Given the description of an element on the screen output the (x, y) to click on. 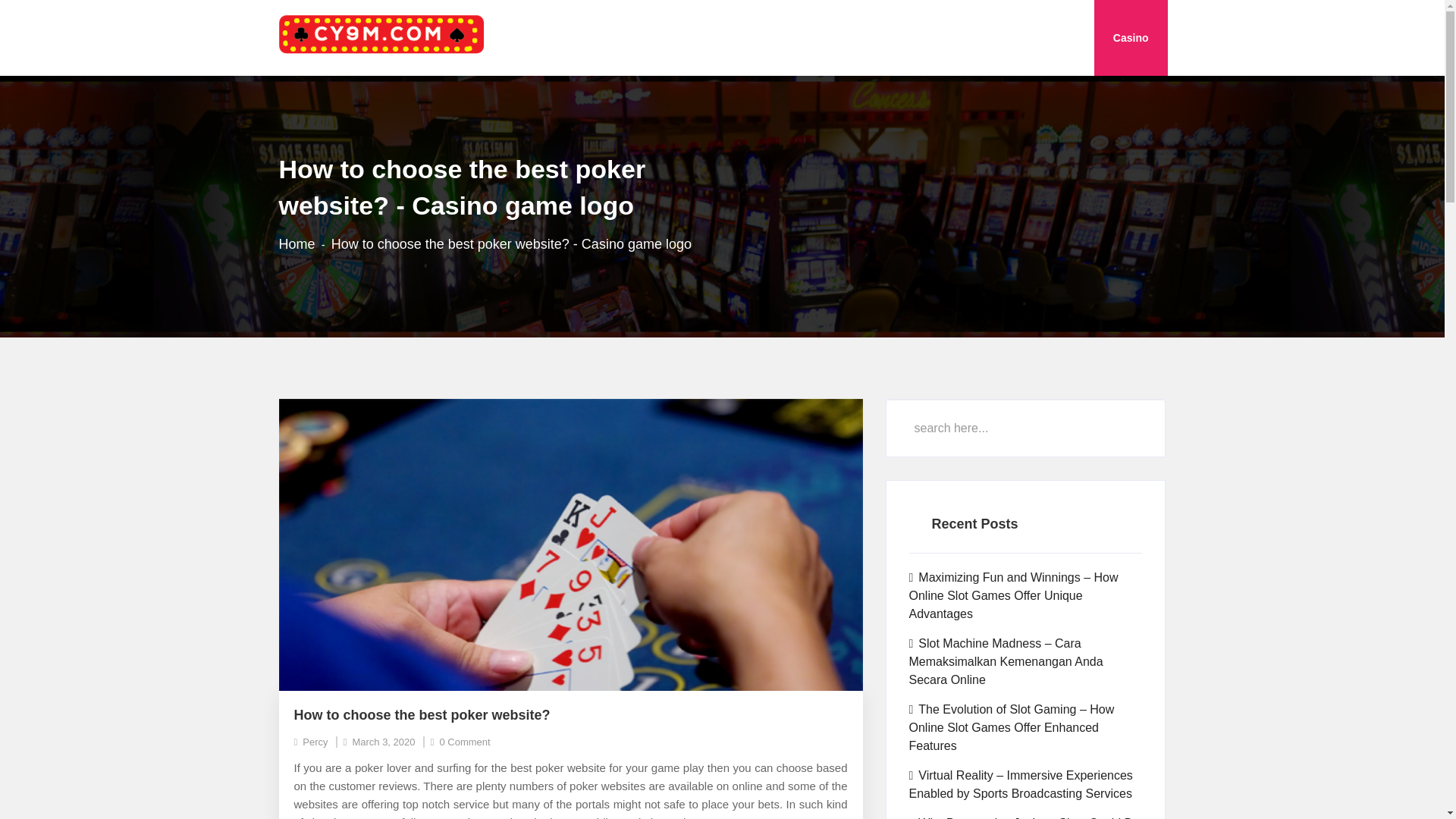
0 Comment (460, 742)
Percy (311, 742)
Casino (1130, 38)
Home (297, 244)
Search for: (1024, 427)
March 3, 2020 (378, 742)
Casino (1130, 38)
